Given the description of an element on the screen output the (x, y) to click on. 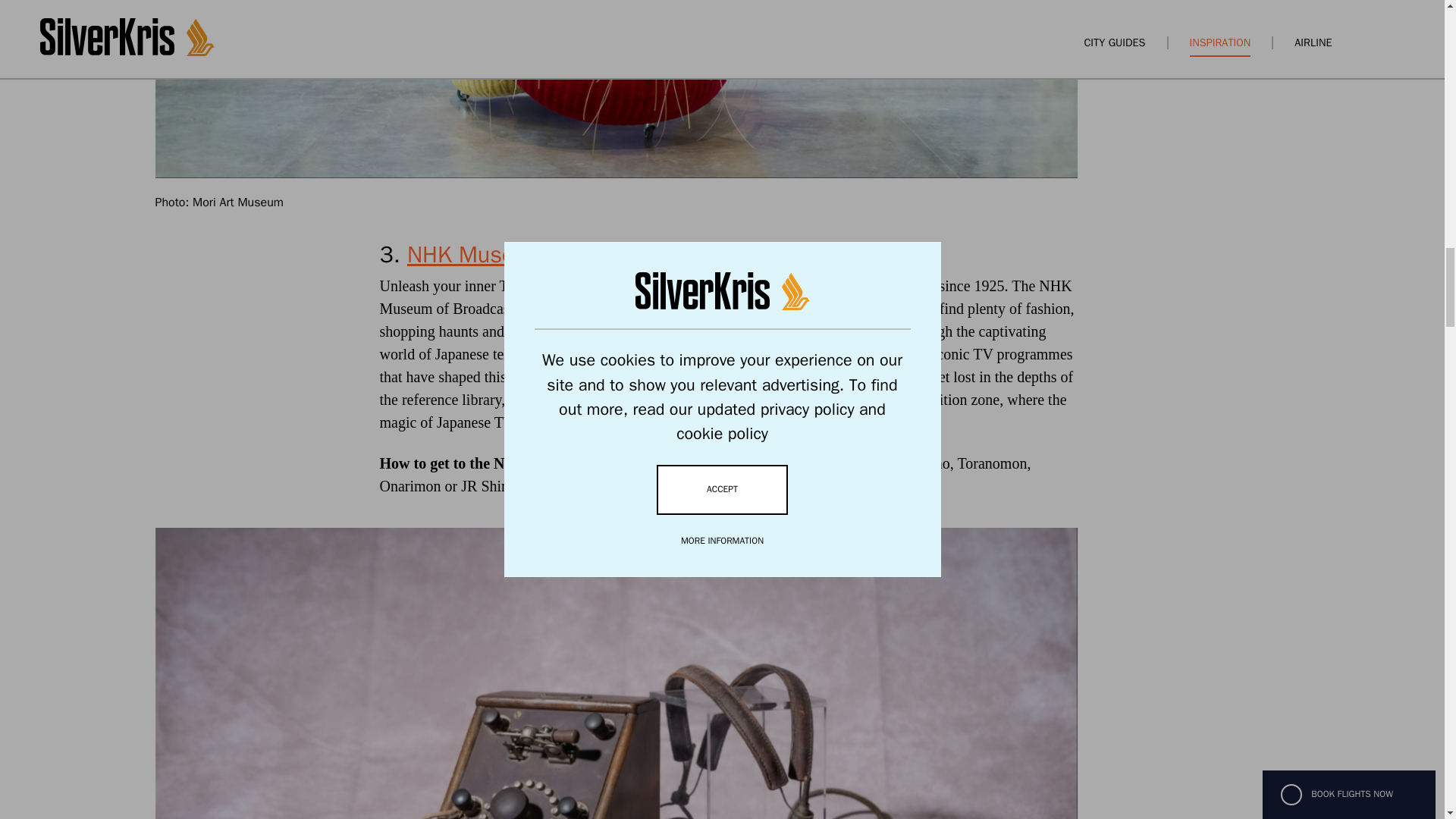
NHK Museum of Broadcasting (558, 254)
